Given the description of an element on the screen output the (x, y) to click on. 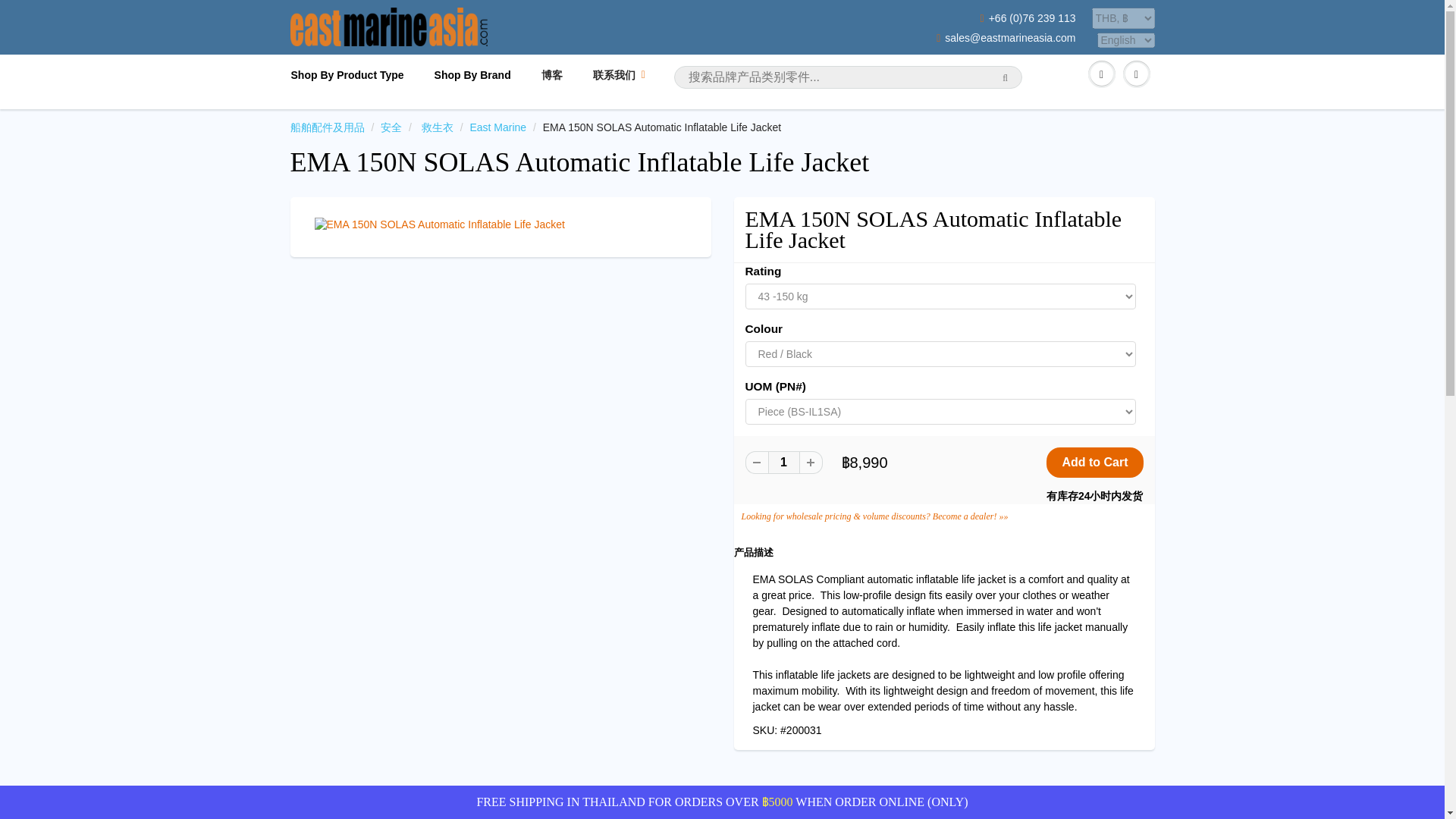
East Marine (496, 127)
Add to Cart (1094, 462)
Shop By Product Type (355, 70)
EMA 150N SOLAS Automatic Inflatable Life Jacket (579, 162)
Shop By Brand (472, 70)
Add to Cart (1094, 462)
1 (783, 462)
EMA 150N SOLAS Automatic Inflatable Life Jacket (500, 225)
East Marine (496, 127)
